Given the description of an element on the screen output the (x, y) to click on. 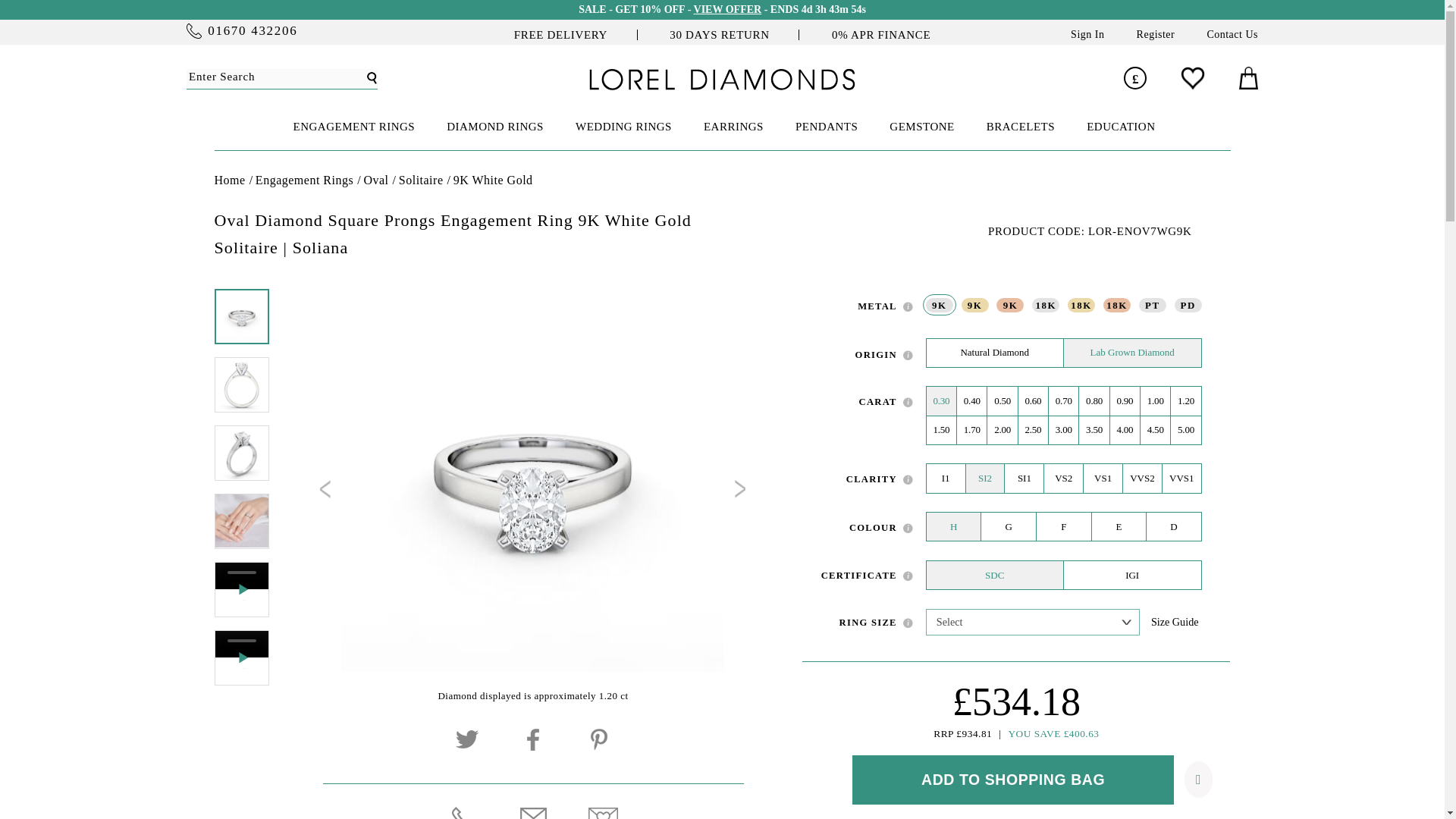
Register (1155, 34)
VIEW OUR OFFER (727, 9)
Contact Us (1232, 34)
Sign In (1086, 34)
ENGAGEMENT RINGS (352, 126)
Contact Us (1232, 34)
Lorel Diamonds Blog (722, 85)
Sign In (1086, 34)
ENGAGEMENT RINGS (352, 126)
VIEW OFFER (727, 9)
Submit (371, 77)
Register (1155, 34)
